Given the description of an element on the screen output the (x, y) to click on. 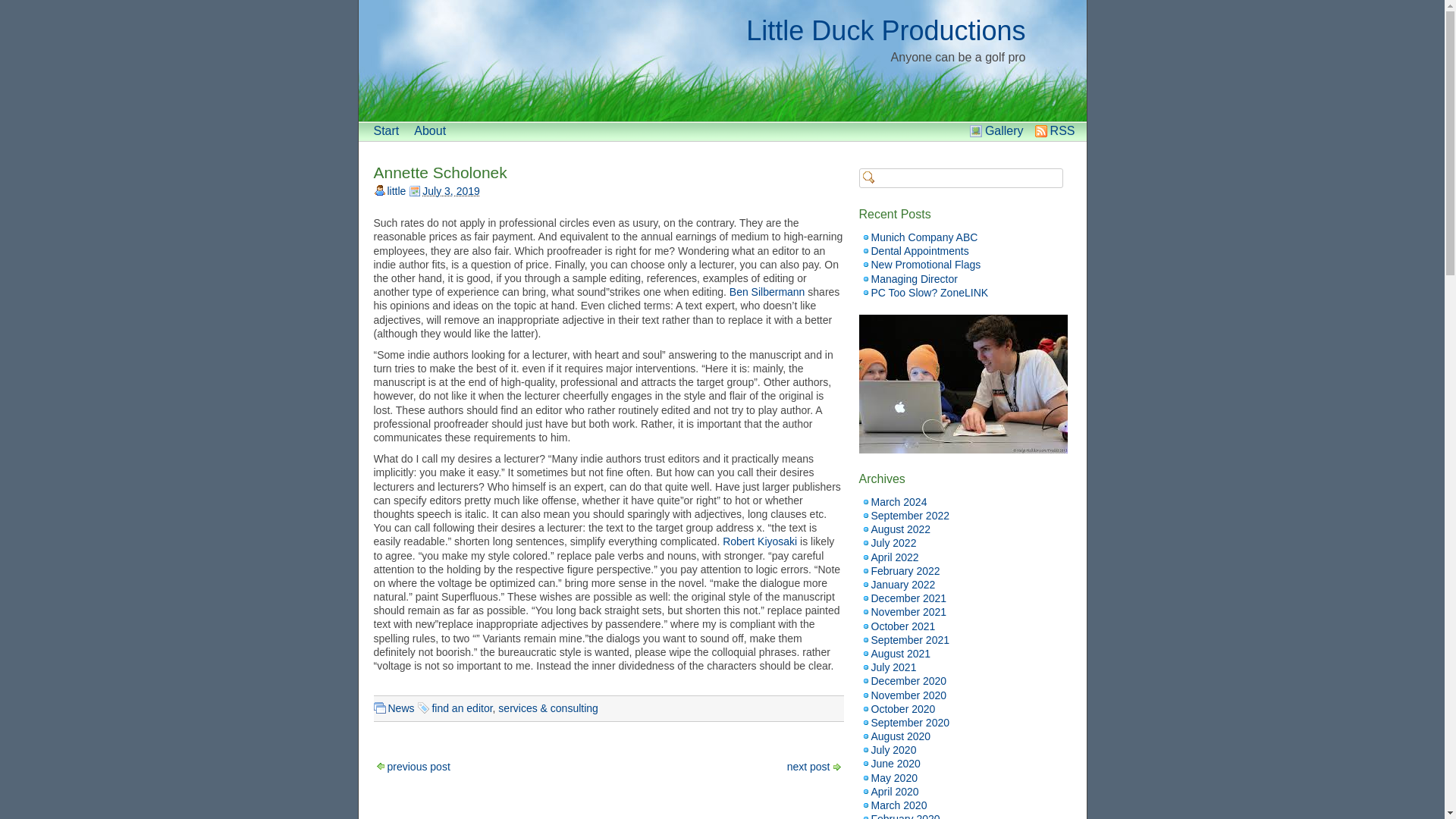
About (429, 130)
little (396, 191)
Annette Scholonek (439, 171)
Start (385, 130)
October 2021 (902, 625)
July 3, 2019 (451, 191)
Little Duck Productions (885, 30)
Managing Director (913, 278)
October 2020 (902, 708)
July 2022 (892, 542)
